Given the description of an element on the screen output the (x, y) to click on. 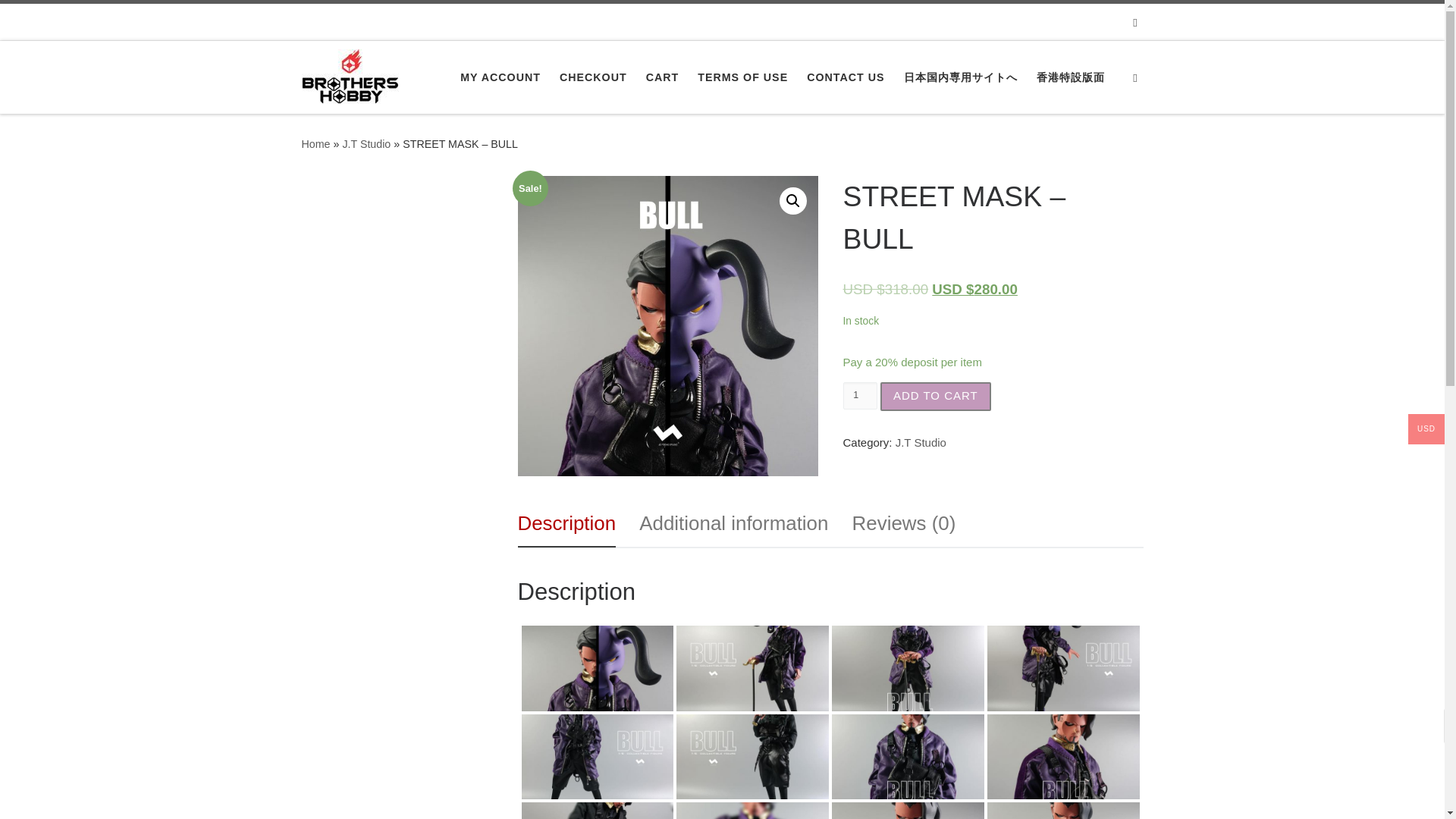
CHECKOUT (592, 77)
Additional information (733, 523)
MY ACCOUNT (499, 77)
BULL16 (1063, 749)
View your shopping cart (1135, 22)
BULL11 (752, 749)
J.T Studio (366, 143)
Home (315, 143)
CONTACT US (845, 77)
1 (860, 395)
